Given the description of an element on the screen output the (x, y) to click on. 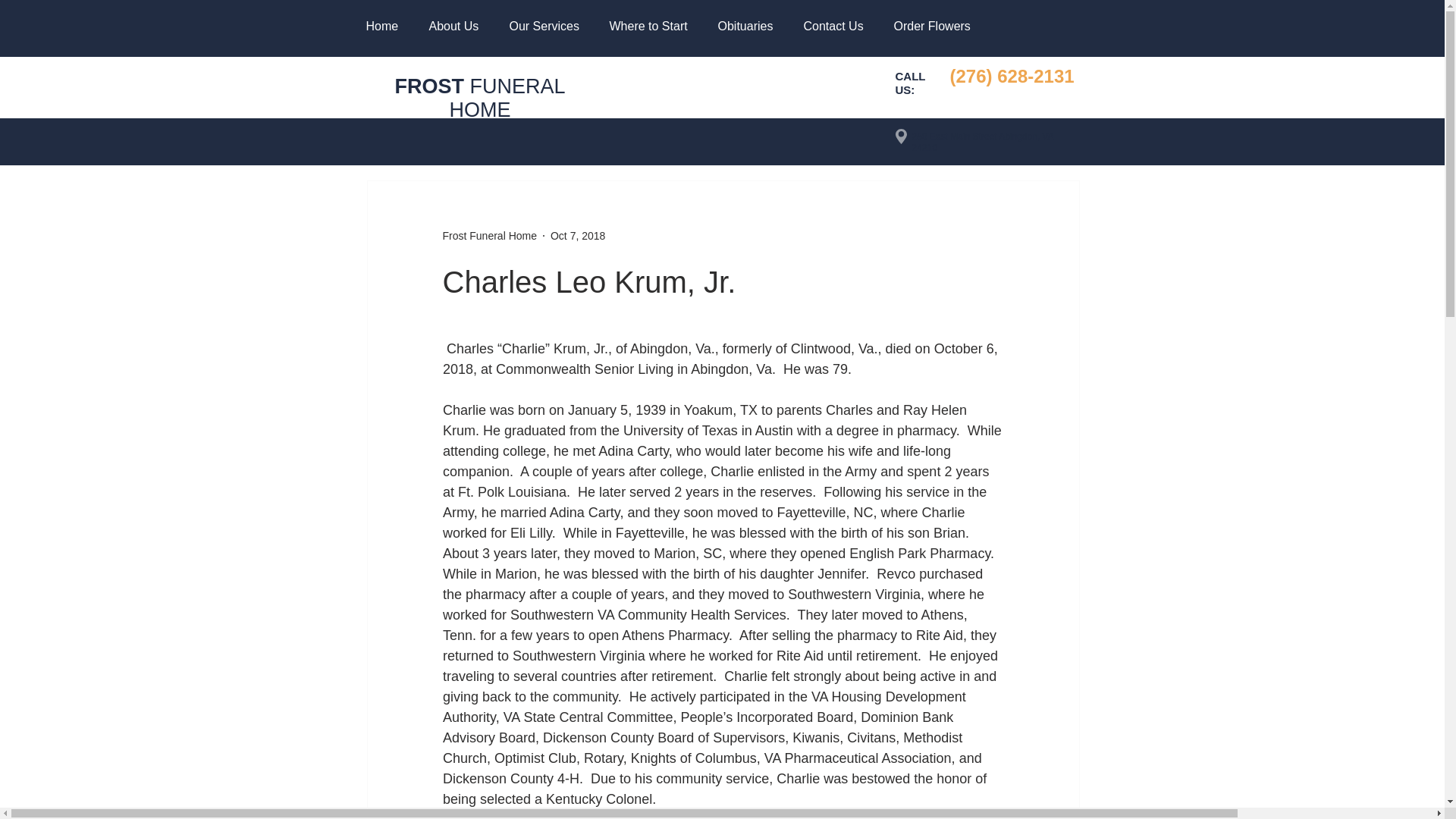
Frost Funeral Home (489, 235)
Obituaries (745, 26)
Order Flowers (931, 26)
Our Services (543, 26)
Contact Us (833, 26)
Where to Start (647, 26)
FROST FUNERAL HOME (479, 98)
Oct 7, 2018 (577, 234)
About Us (452, 26)
Frost Funeral Home (489, 235)
